Given the description of an element on the screen output the (x, y) to click on. 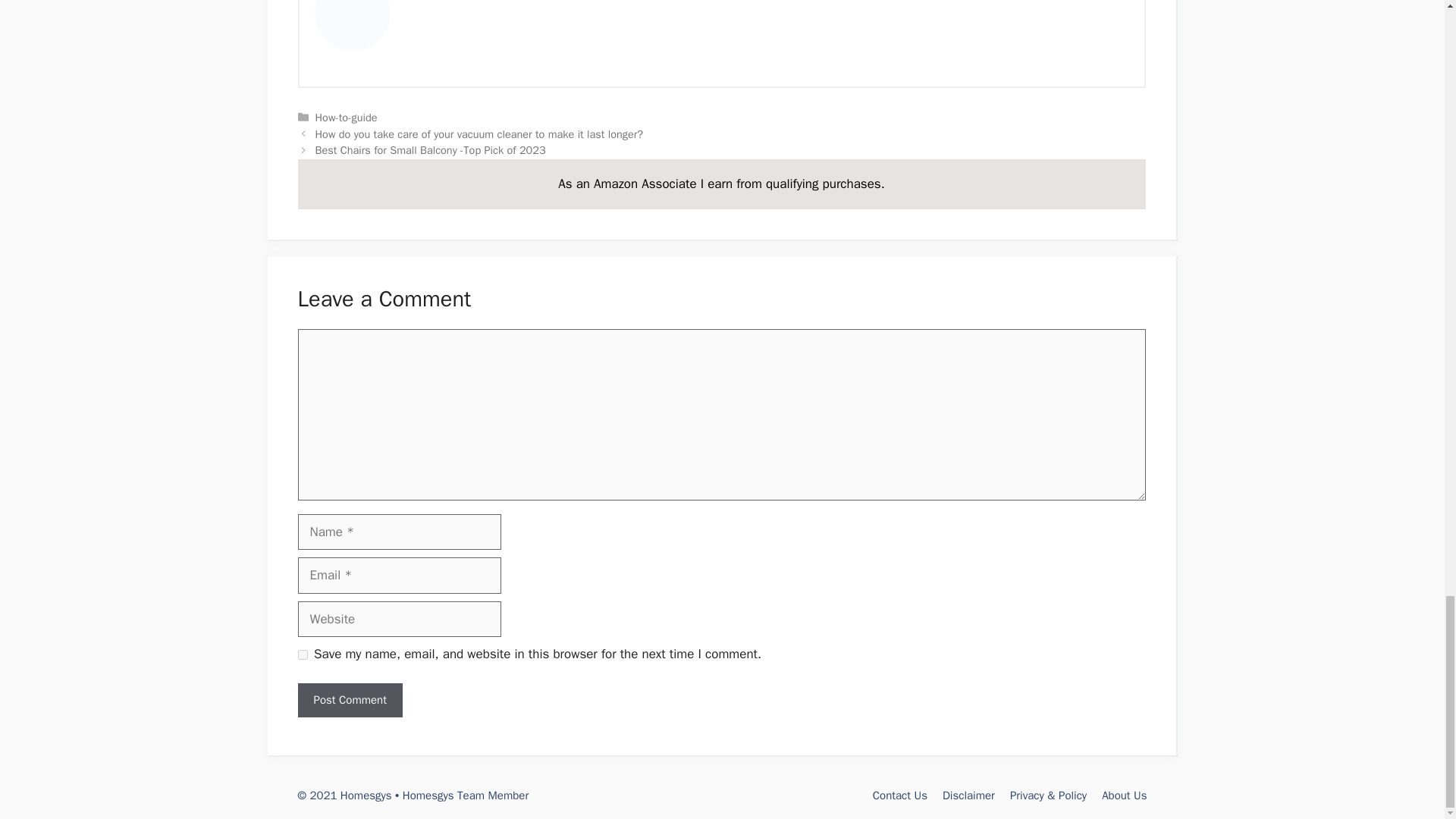
Post Comment (349, 700)
Best Chairs for Small Balcony -Top Pick of 2023 (430, 150)
Contact Us (899, 795)
yes (302, 655)
How-to-guide (346, 117)
Next (430, 150)
Post Comment (349, 700)
About Us (1124, 795)
Previous (479, 133)
Disclaimer (968, 795)
